Given the description of an element on the screen output the (x, y) to click on. 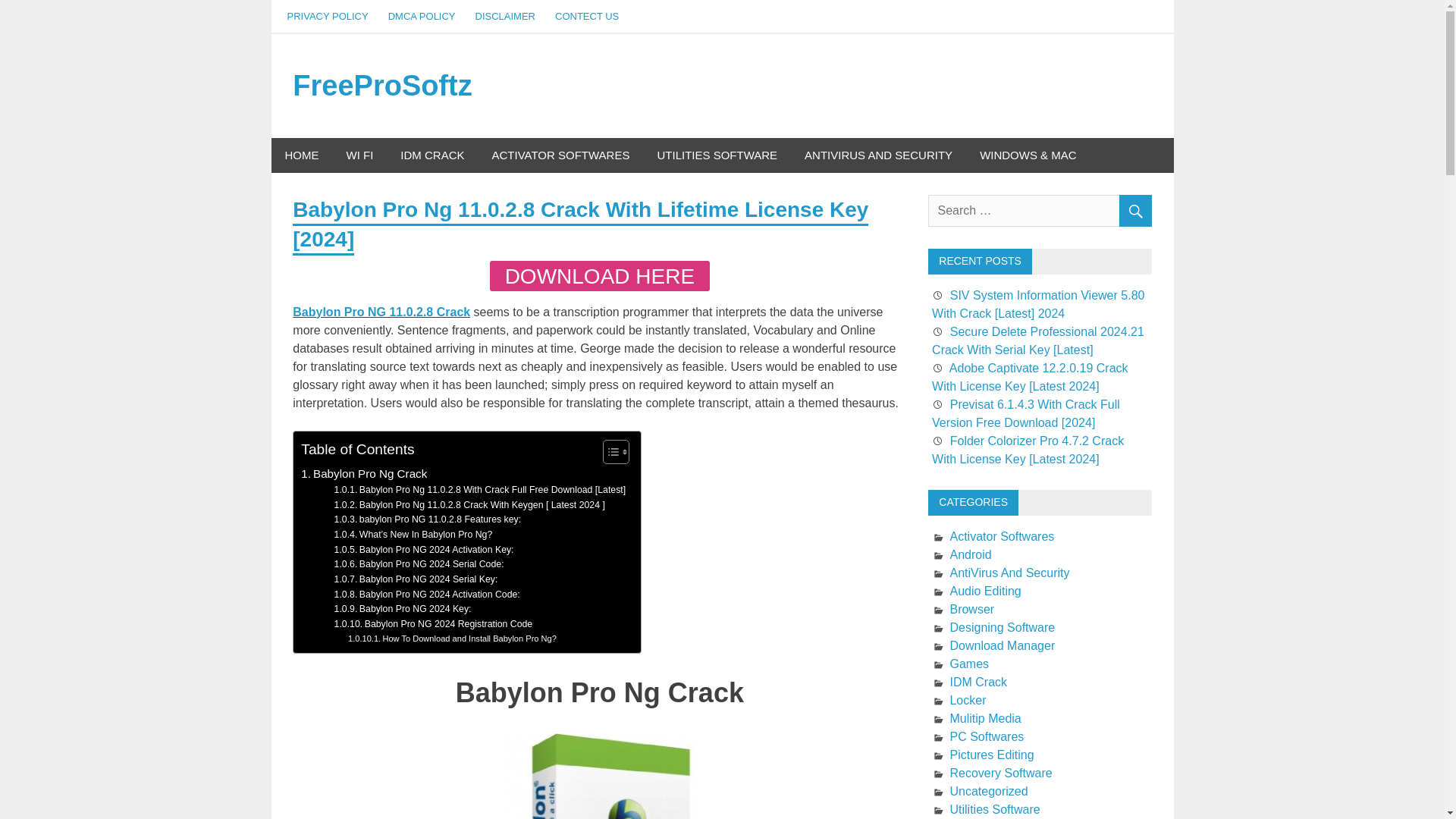
Babylon Pro NG 2024 Activation Code: (426, 595)
CONTECT US (586, 16)
Babylon Pro NG 2024 Serial Key: (415, 580)
DISCLAIMER (504, 16)
WI FI (359, 155)
HOME (301, 155)
Babylon Pro NG 2024 Serial Code: (418, 564)
PRIVACY POLICY (328, 16)
How To Download and Install Babylon Pro Ng? (451, 639)
Babylon Pro NG 2024 Serial Code: (418, 564)
DMCA POLICY (421, 16)
Babylon Pro NG 11.0.2.8 Crack (381, 311)
IDM CRACK (432, 155)
Babylon Pro NG 2024 Activation Key: (423, 549)
Babylon Pro Ng Crack (363, 474)
